Given the description of an element on the screen output the (x, y) to click on. 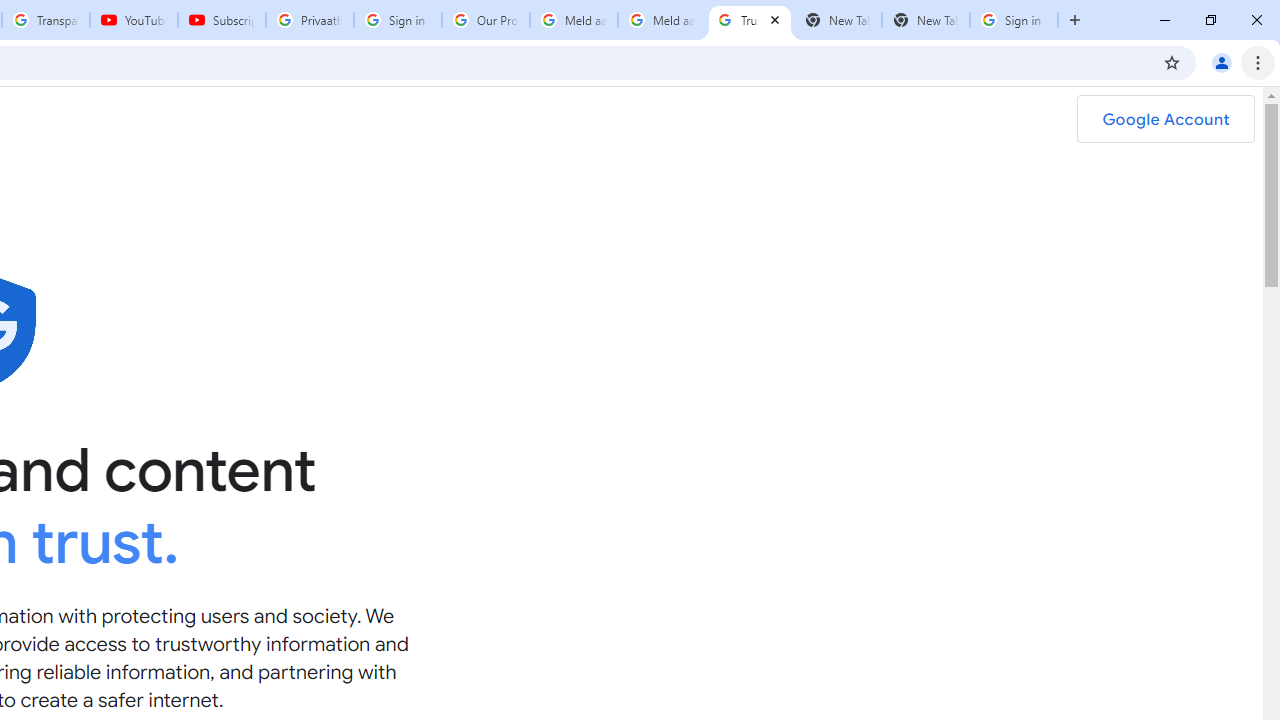
Google Account (1165, 119)
Trusted Information and Content - Google Safety Center (749, 20)
New Tab (925, 20)
Sign in - Google Accounts (1014, 20)
Sign in - Google Accounts (397, 20)
